Given the description of an element on the screen output the (x, y) to click on. 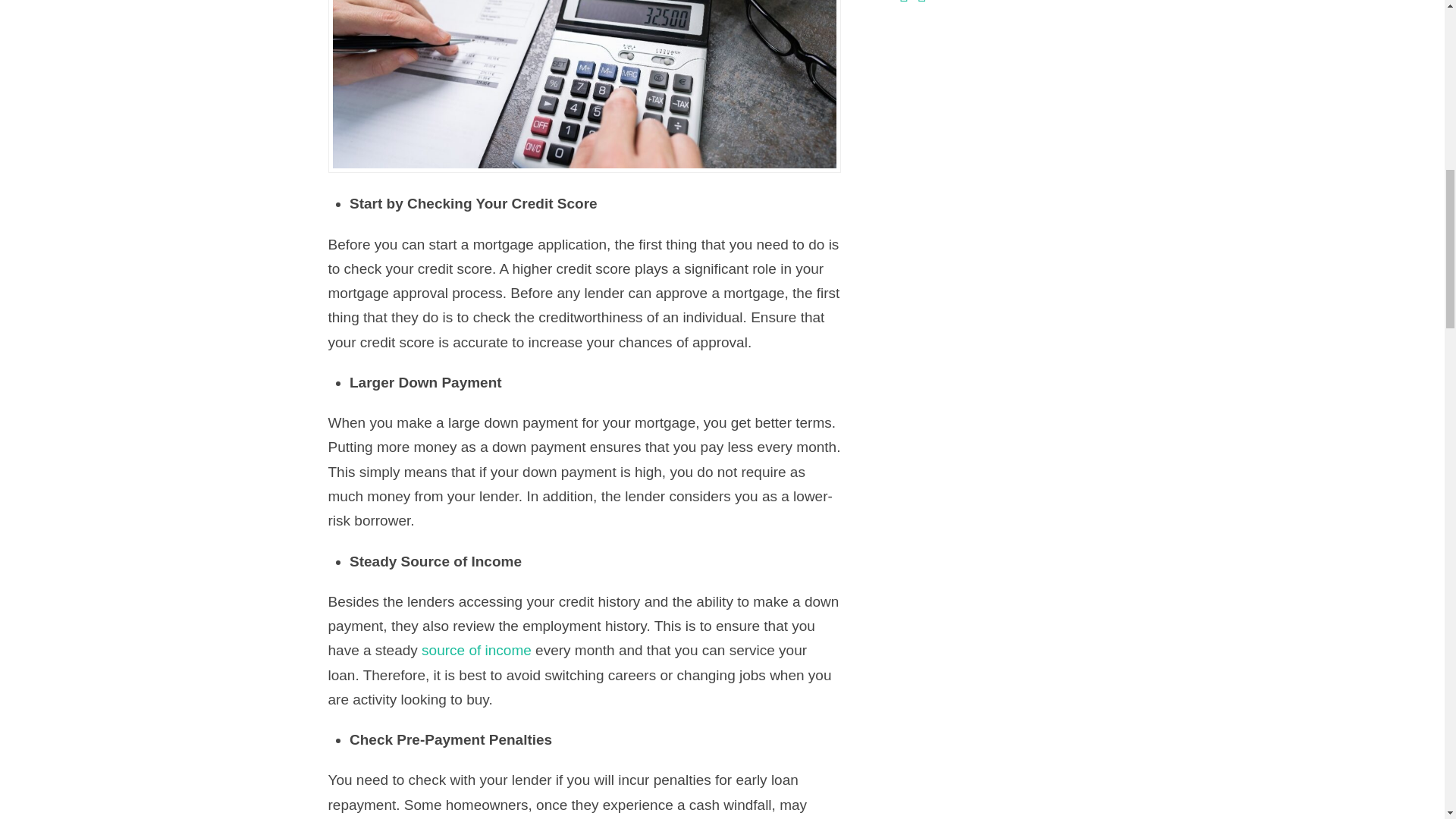
source of income (476, 650)
Visit American Mortgage Resource, Inc. on Facebook (921, 2)
Visit American Mortgage Resource, Inc. on Twitter (903, 2)
